Given the description of an element on the screen output the (x, y) to click on. 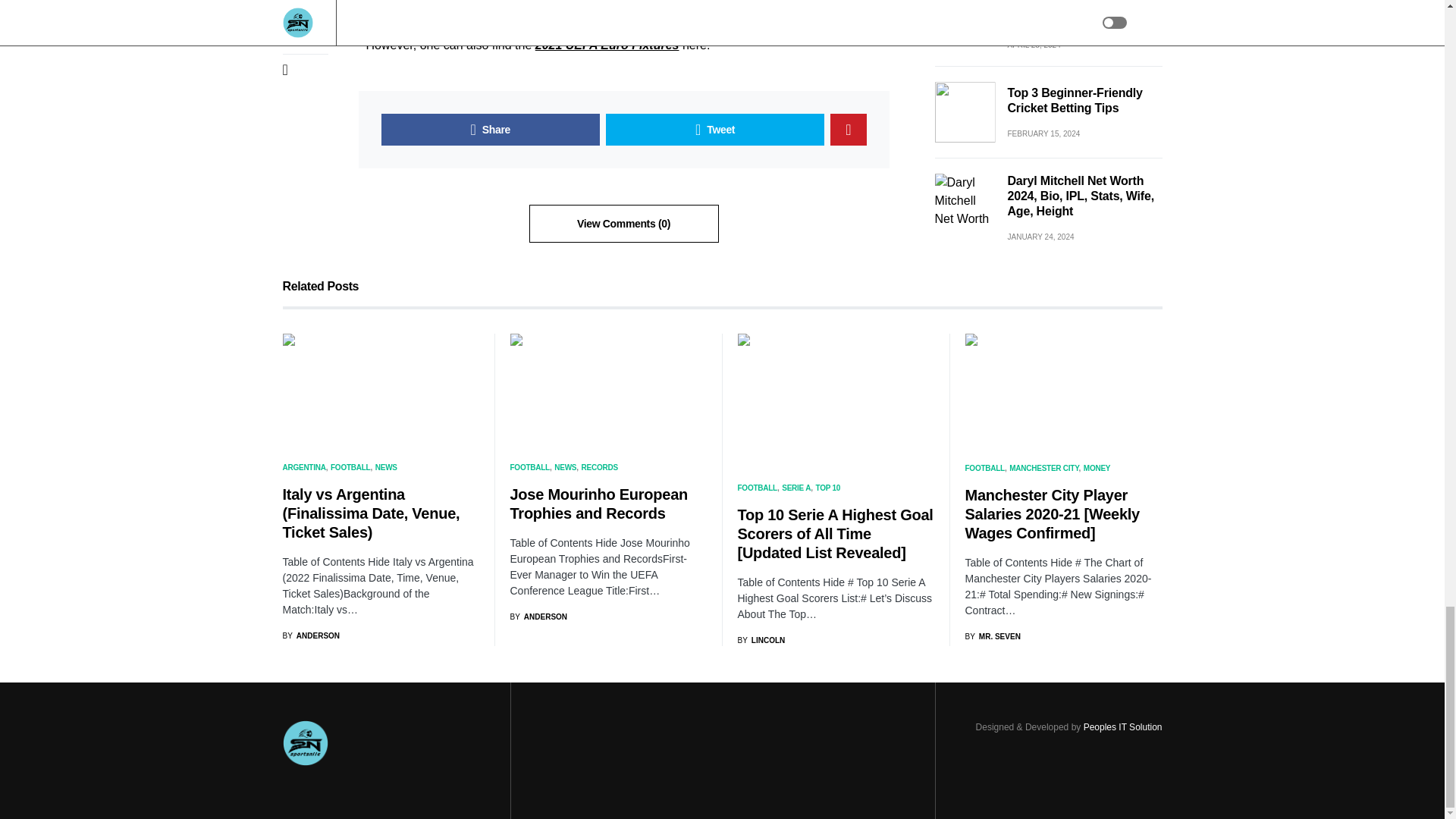
View all posts by anderson (310, 635)
View all posts by Mr. Seven (991, 636)
View all posts by anderson (538, 616)
View all posts by Lincoln (760, 640)
